Given the description of an element on the screen output the (x, y) to click on. 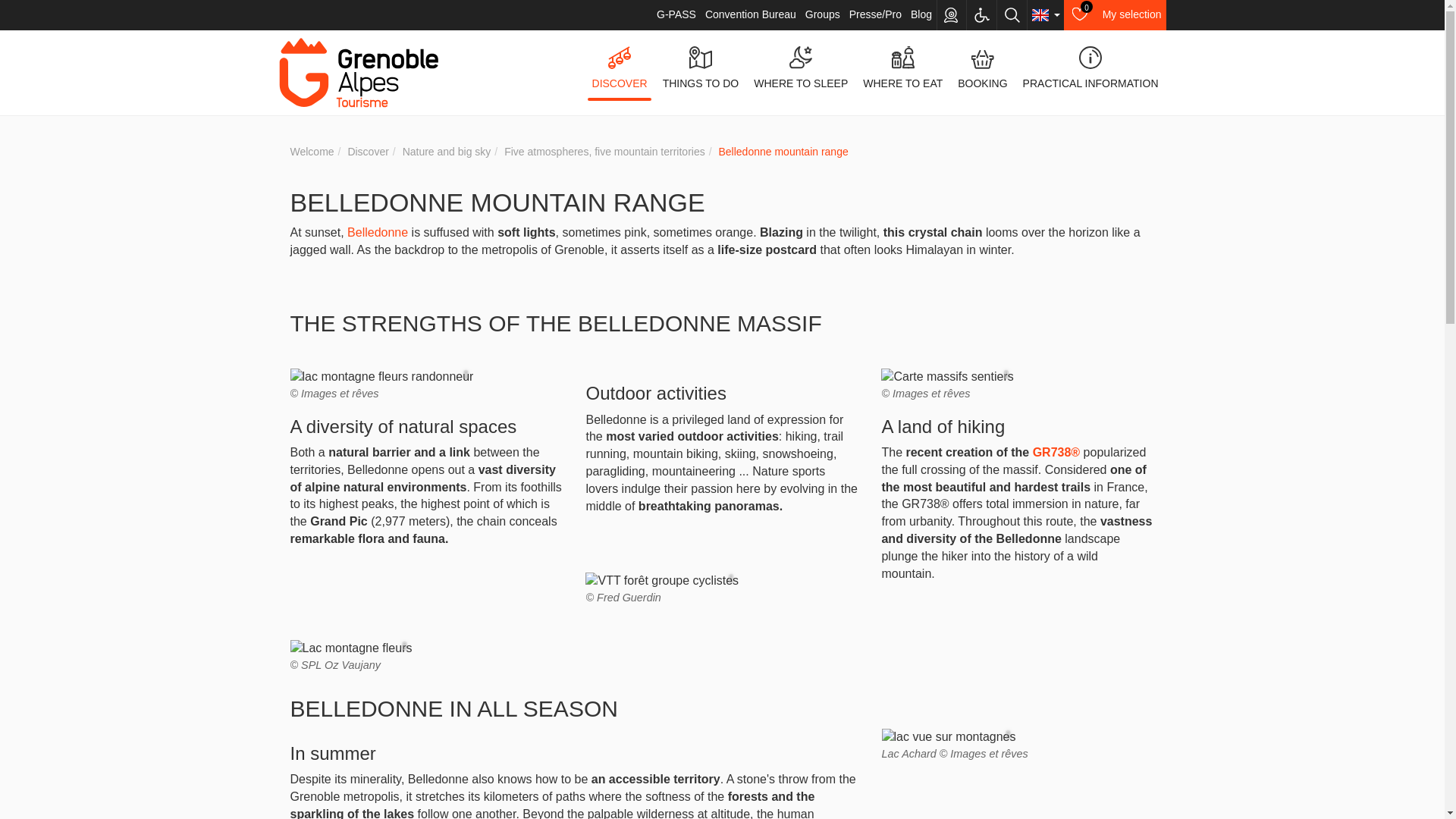
Webcam (1115, 15)
DISCOVER (951, 14)
THINGS TO DO (620, 68)
Convention Bureau (700, 68)
Groups (750, 14)
G-PASS (823, 14)
Blog (676, 14)
WHERE TO SLEEP (921, 14)
